Given the description of an element on the screen output the (x, y) to click on. 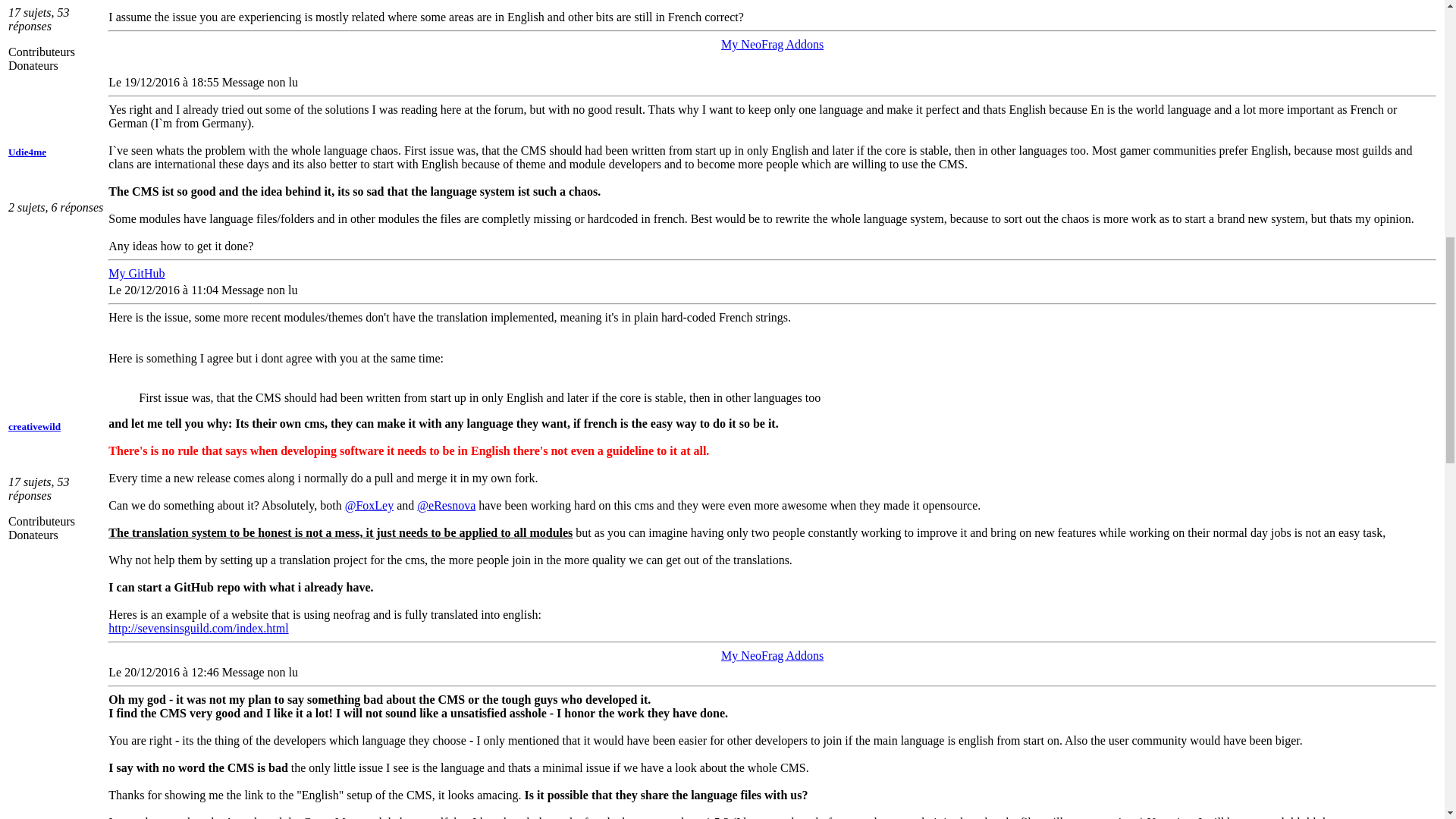
My NeoFrag Addons (772, 43)
My GitHub (135, 273)
creativewild (34, 426)
Udie4me (27, 152)
My NeoFrag Addons (772, 655)
